Given the description of an element on the screen output the (x, y) to click on. 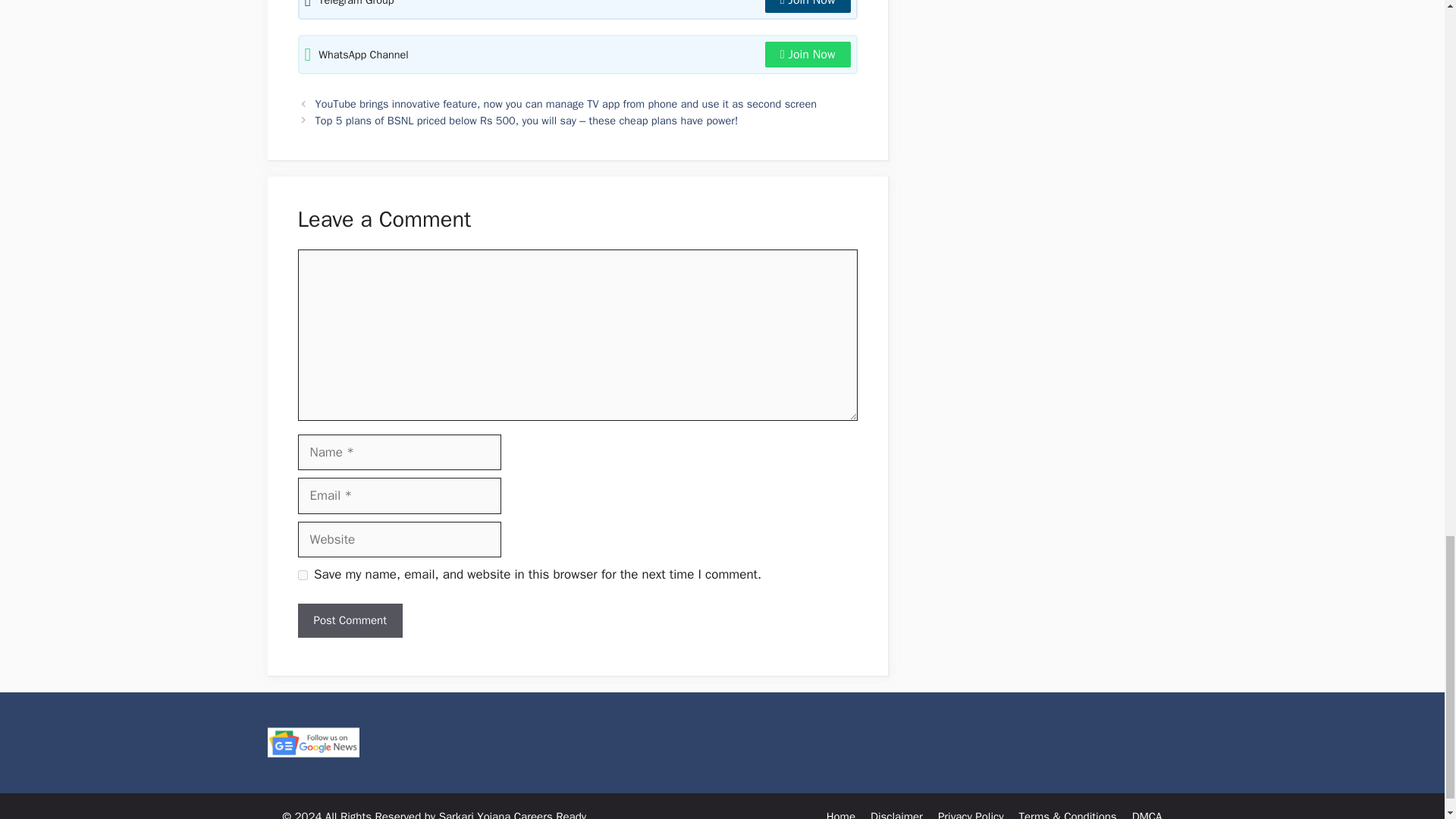
Post Comment (349, 620)
Join Now (807, 54)
yes (302, 574)
Post Comment (349, 620)
Join Now (807, 6)
